Given the description of an element on the screen output the (x, y) to click on. 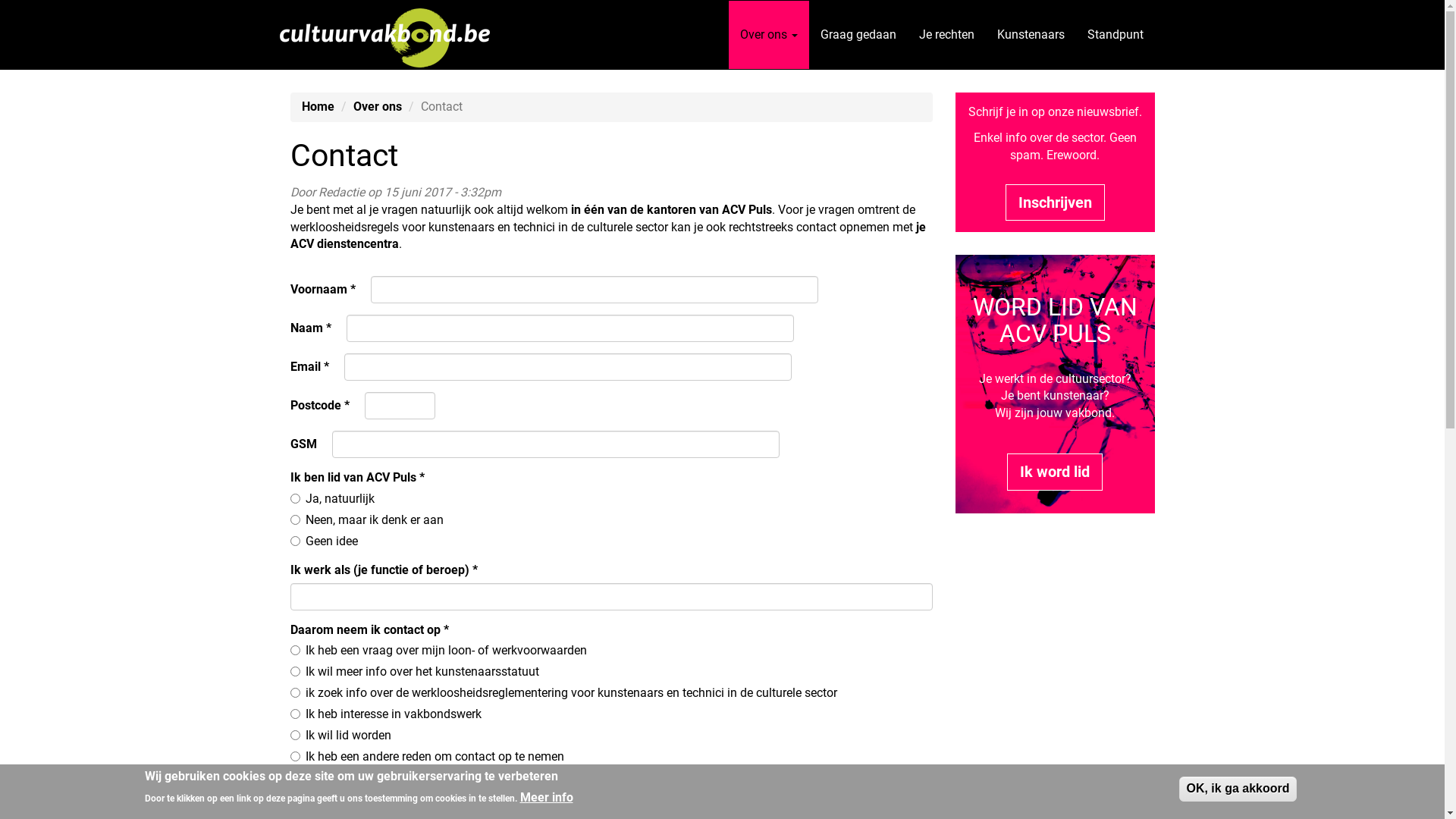
Meer info Element type: text (546, 797)
je ACV dienstencentra Element type: text (607, 235)
Inschrijven Element type: text (1054, 202)
Over ons Element type: text (377, 106)
Kunstenaars Element type: text (1030, 34)
Home Element type: text (317, 106)
Graag gedaan Element type: text (857, 34)
Je rechten Element type: text (945, 34)
Over ons Element type: text (768, 34)
Home Element type: hover (390, 34)
Overslaan en naar de inhoud gaan Element type: text (0, 0)
Ik word lid Element type: text (1054, 471)
Standpunt Element type: text (1114, 34)
OK, ik ga akkoord Element type: text (1237, 788)
